Given the description of an element on the screen output the (x, y) to click on. 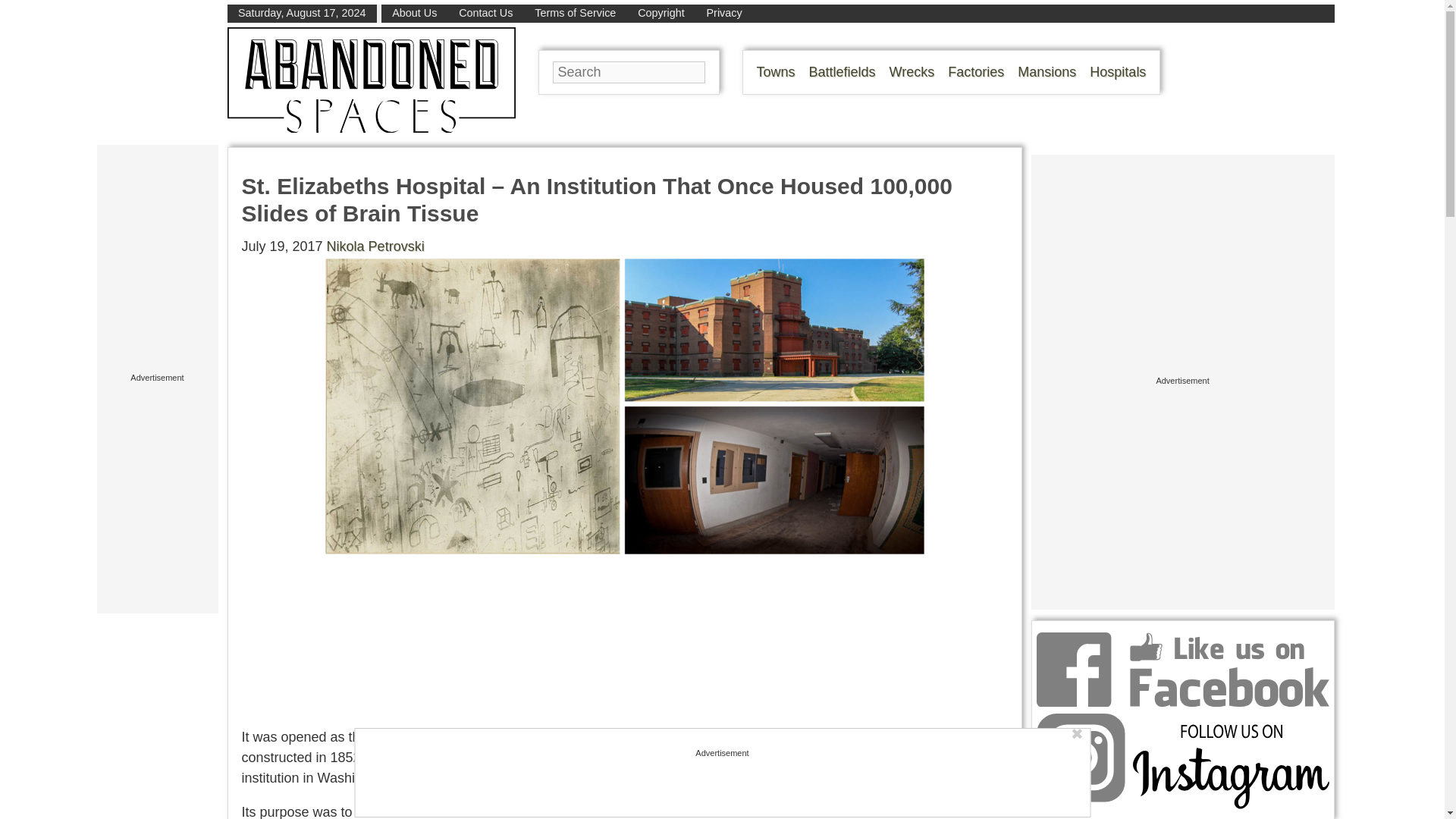
Privacy (724, 12)
Wrecks (911, 71)
Hospitals (1117, 71)
Mansions (1046, 71)
Copyright (660, 12)
Factories (975, 71)
About Us (413, 12)
Battlefields (842, 71)
Contact Us (485, 12)
Towns (775, 71)
